Given the description of an element on the screen output the (x, y) to click on. 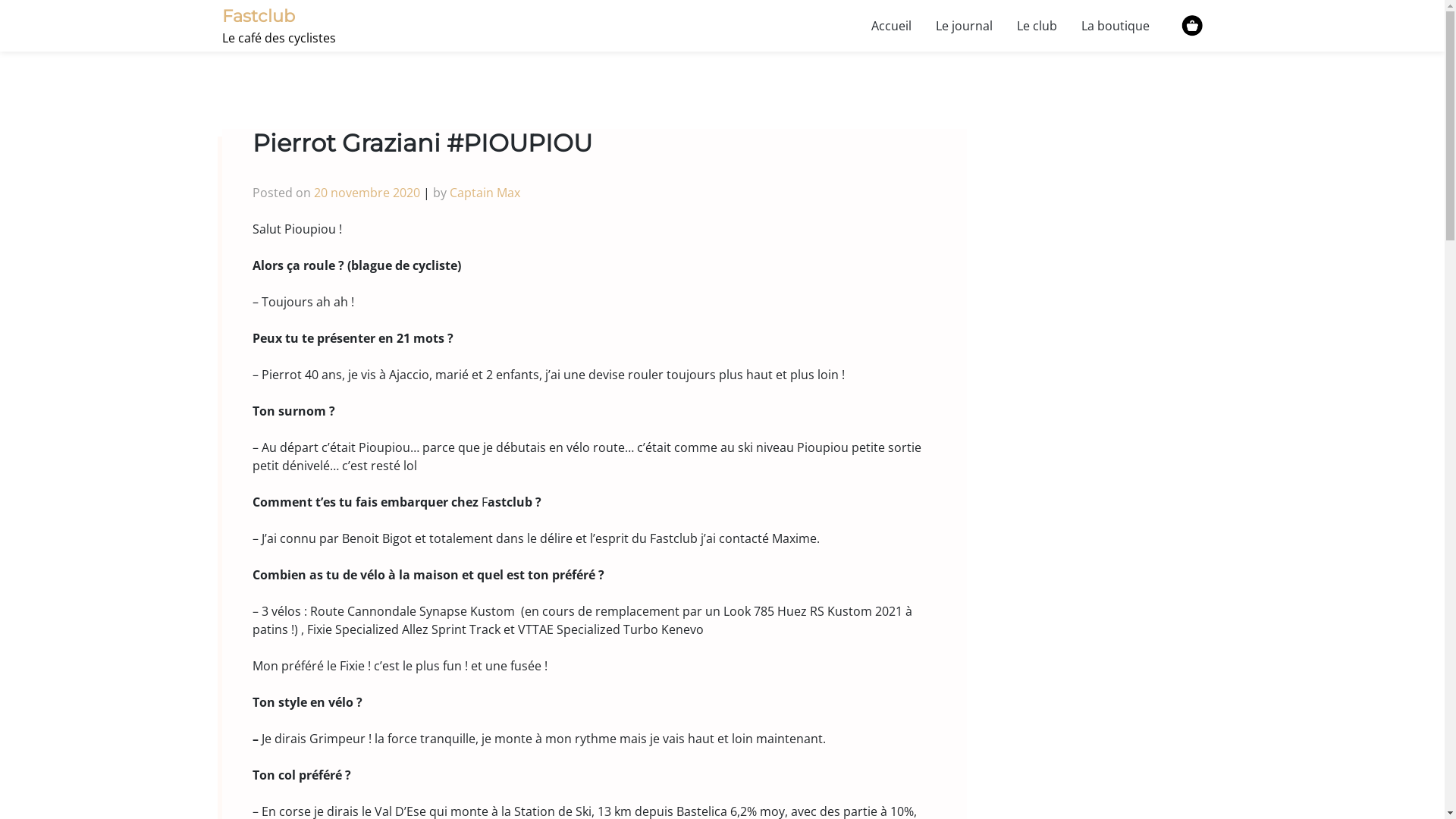
Le journal Element type: text (963, 25)
Fastclub Element type: text (257, 15)
Panier Element type: text (1192, 25)
Accueil Element type: text (890, 25)
Le club Element type: text (1036, 25)
Captain Max Element type: text (483, 192)
20 novembre 2020 Element type: text (366, 192)
La boutique Element type: text (1115, 25)
